Given the description of an element on the screen output the (x, y) to click on. 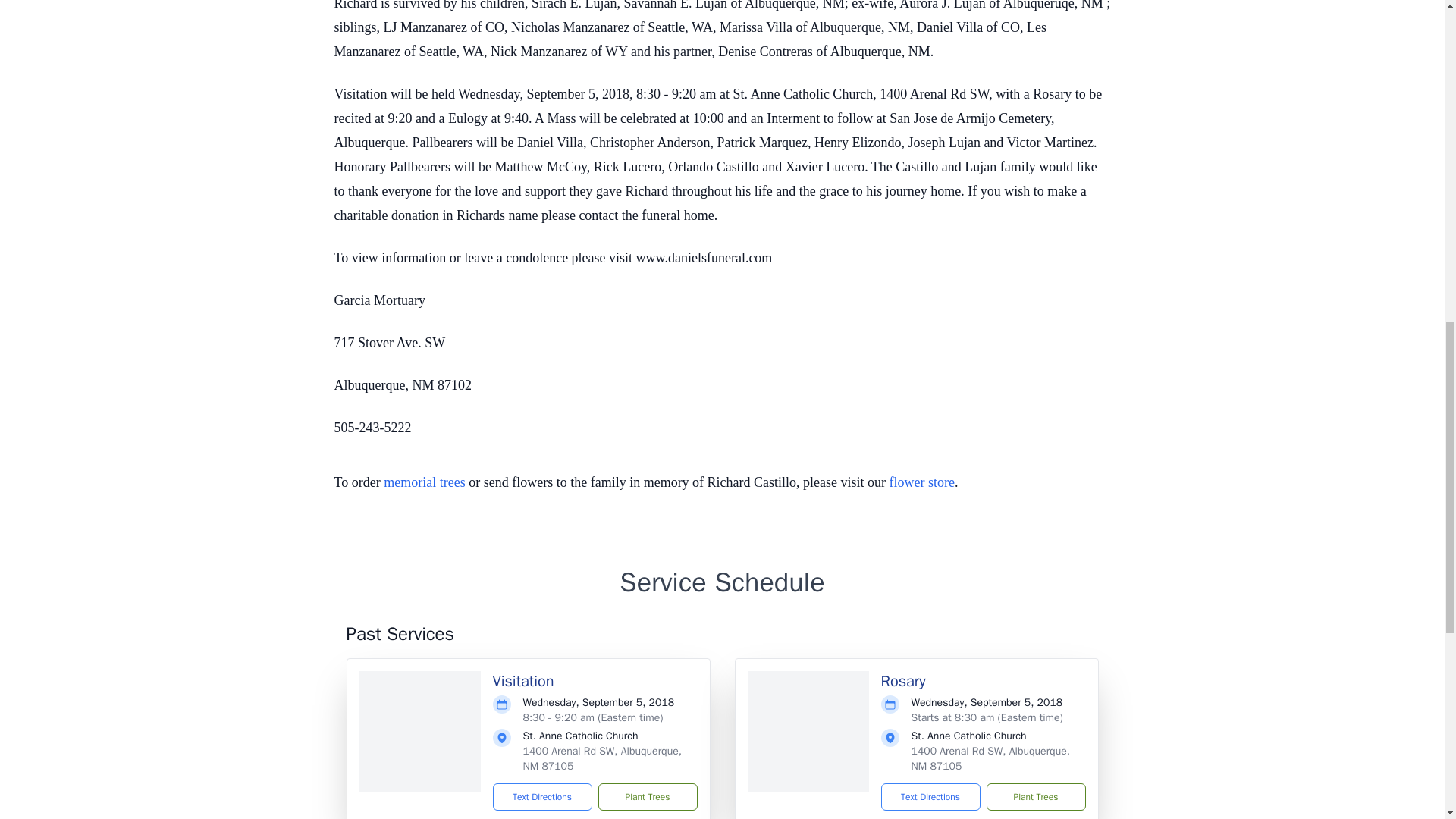
memorial trees (424, 482)
Plant Trees (646, 796)
1400 Arenal Rd SW, Albuquerque, NM 87105 (601, 758)
1400 Arenal Rd SW, Albuquerque, NM 87105 (990, 758)
flower store (922, 482)
Text Directions (929, 796)
Plant Trees (1034, 796)
Text Directions (542, 796)
